Given the description of an element on the screen output the (x, y) to click on. 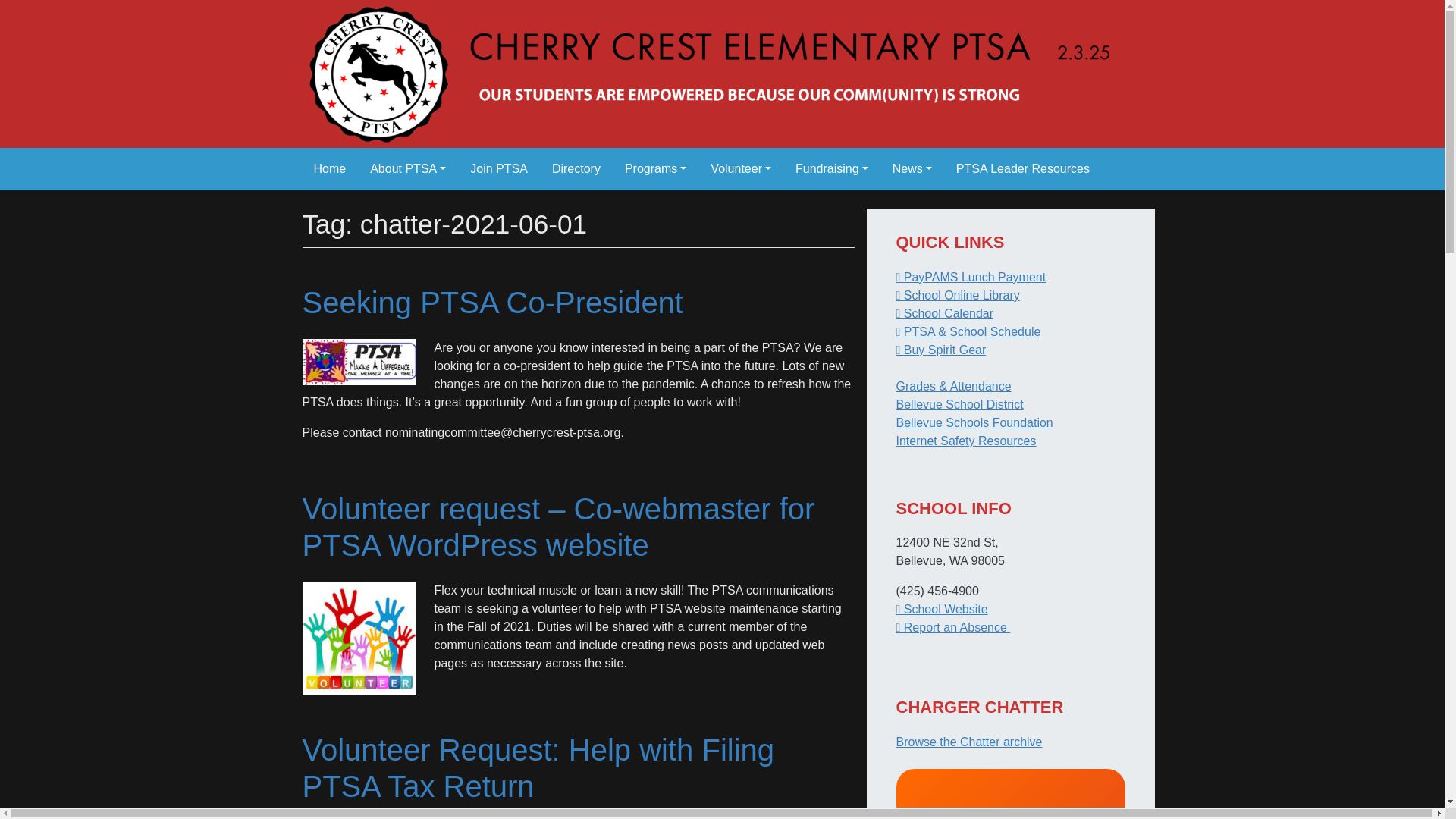
Home (329, 169)
Volunteer (740, 169)
Directory (576, 169)
Programs (655, 169)
Fundraising (831, 169)
Join PTSA (499, 169)
News (911, 169)
Directory (576, 169)
About PTSA (408, 169)
About PTSA (408, 169)
